Given the description of an element on the screen output the (x, y) to click on. 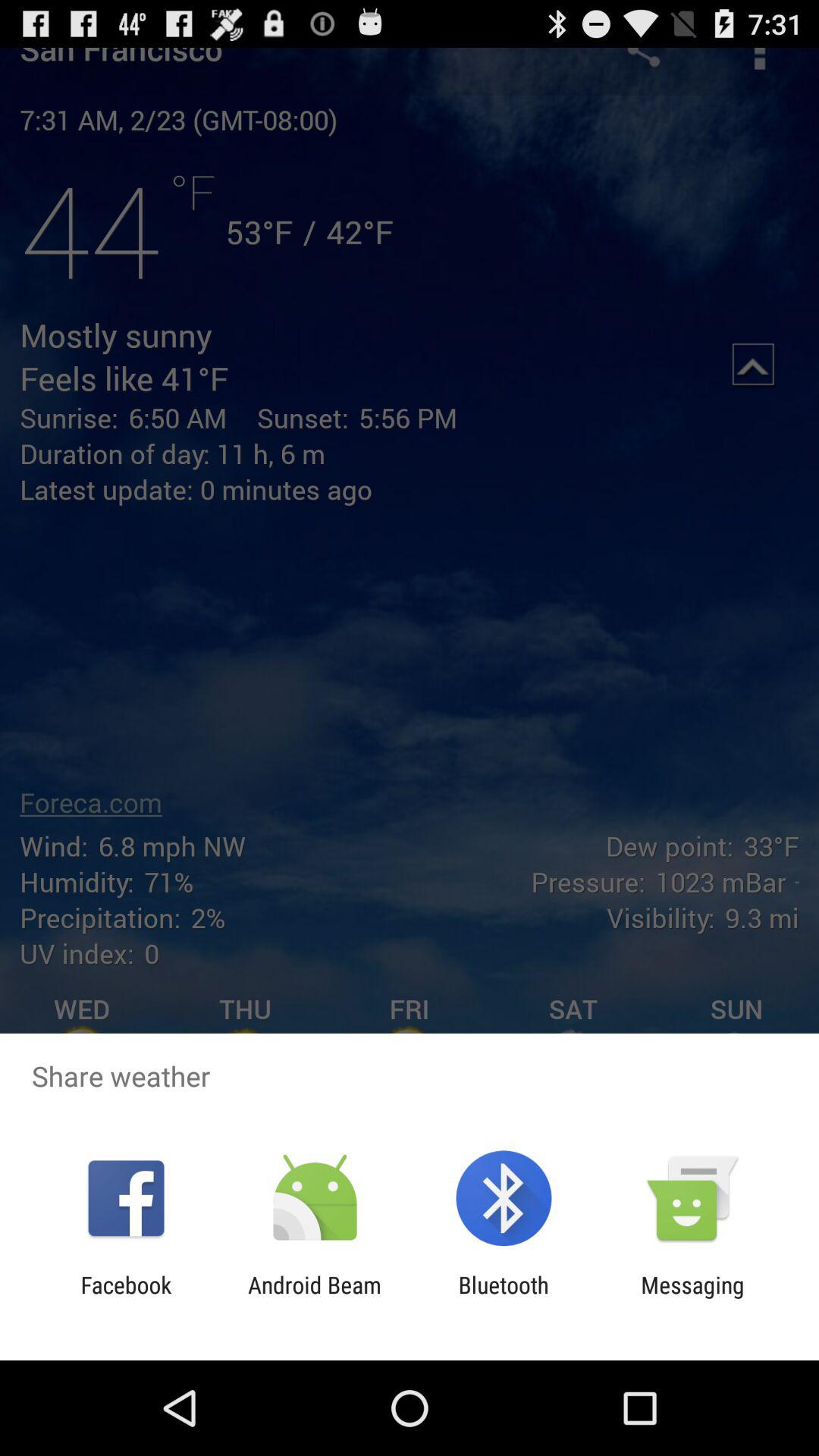
open item next to facebook app (314, 1298)
